Given the description of an element on the screen output the (x, y) to click on. 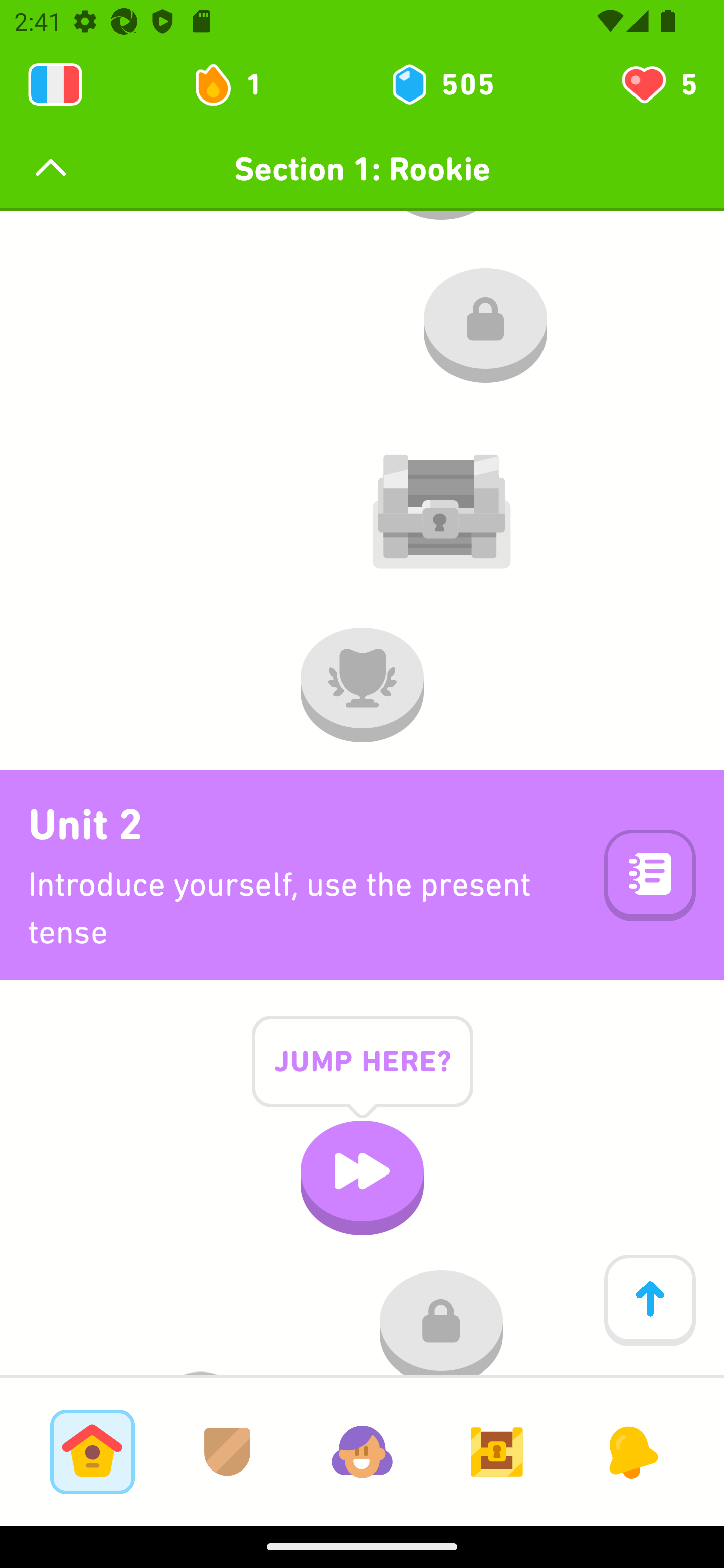
Learning 2131888976 (55, 84)
1 day streak 1 (236, 84)
505 (441, 84)
You have 5 hearts left 5 (657, 84)
Section 1: Rookie (362, 169)
JUMP HERE? (361, 1077)
Learn Tab (91, 1451)
Leagues Tab (227, 1451)
Profile Tab (361, 1451)
Goals Tab (496, 1451)
News Tab (631, 1451)
